Given the description of an element on the screen output the (x, y) to click on. 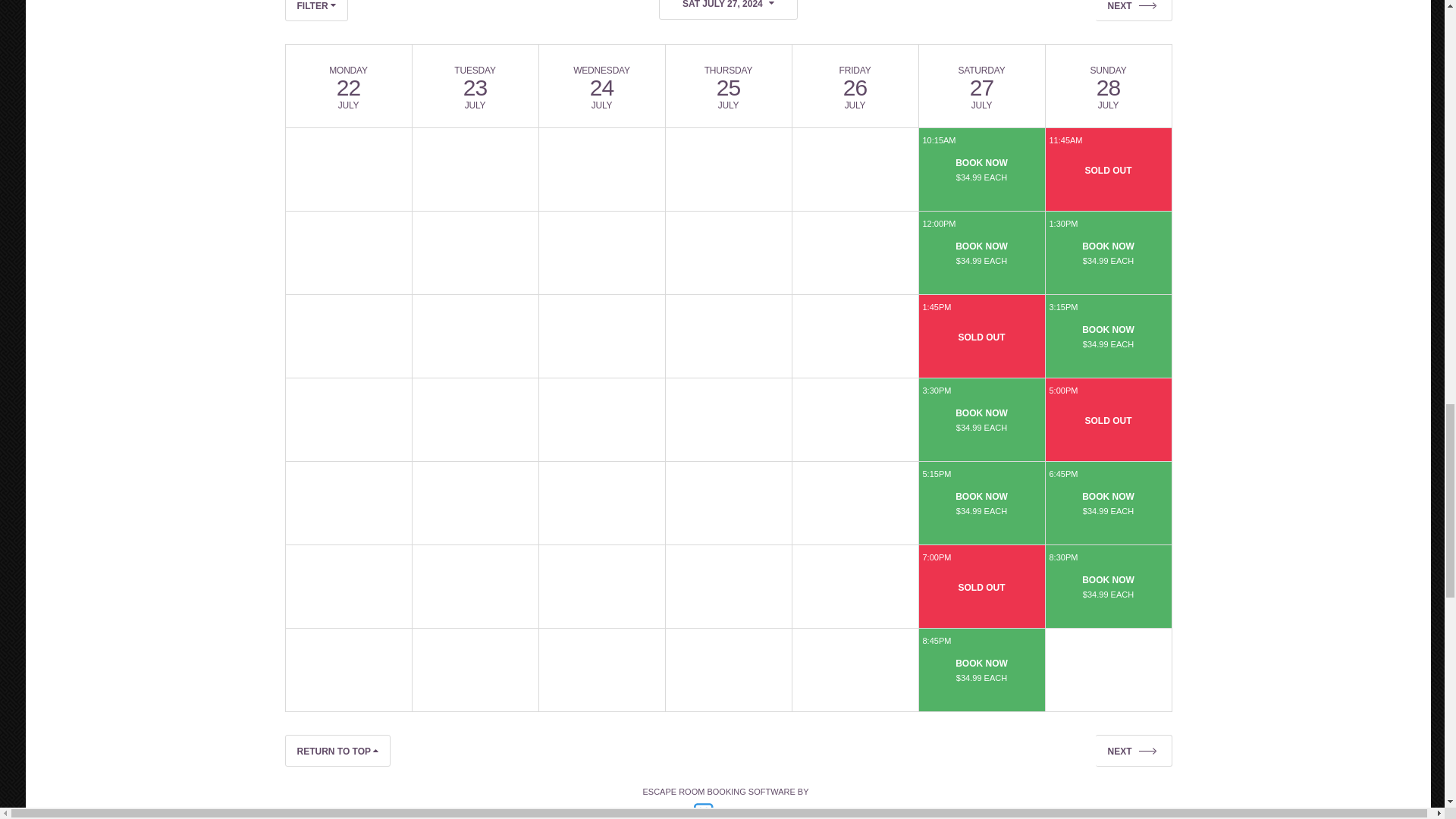
ESCAPE ROOM BOOKING SOFTWARE BY (727, 803)
